Given the description of an element on the screen output the (x, y) to click on. 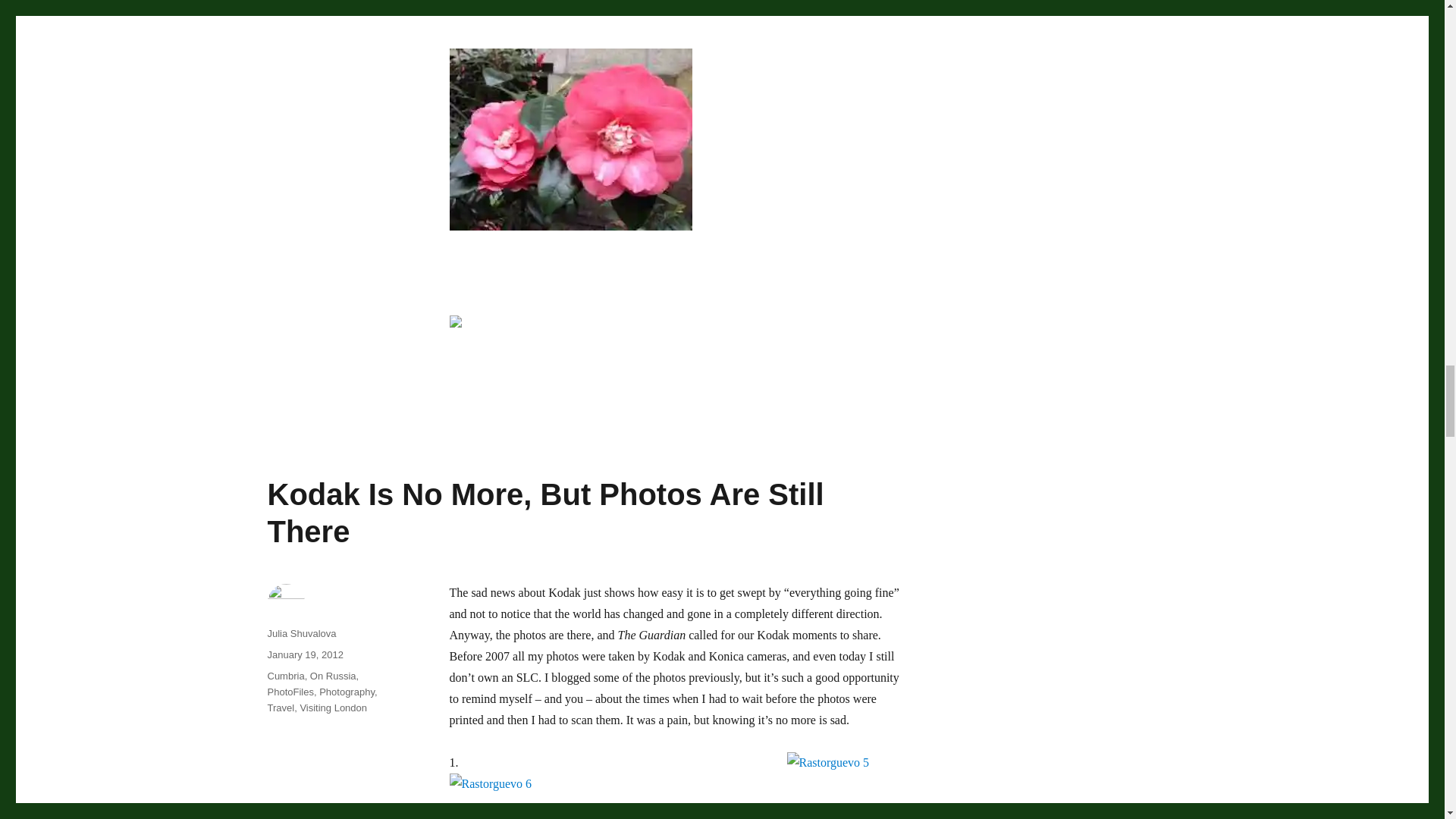
Kodak Is No More, But Photos Are Still There (545, 512)
Rastorguevo 6 by loscuadernosdejulia, on Flickr (676, 796)
Rastorguevo 5 by loscuadernosdejulia, on Flickr (845, 785)
